Given the description of an element on the screen output the (x, y) to click on. 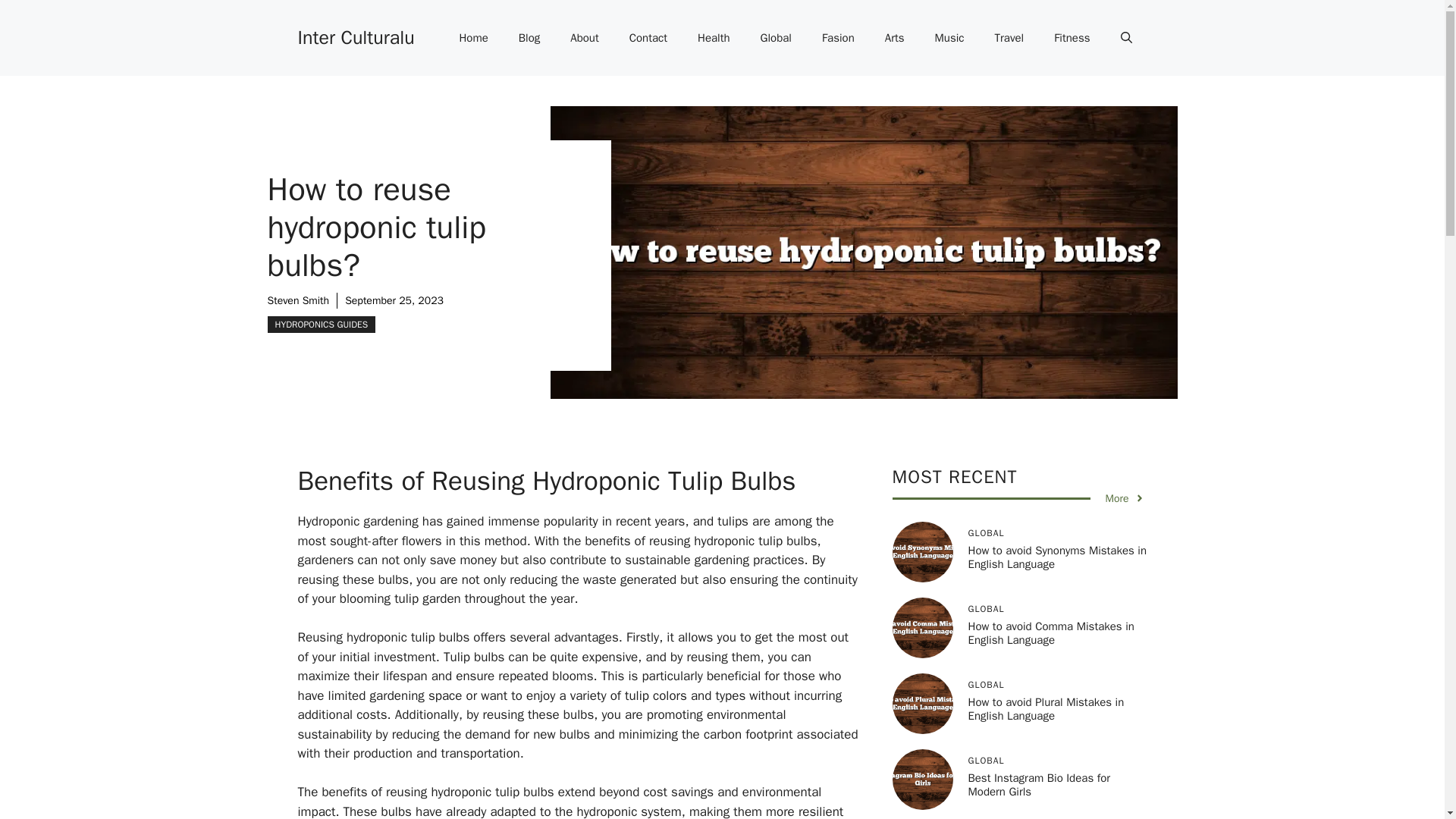
Best Instagram Bio Ideas for Modern Girls (1038, 784)
Inter Culturalu (355, 37)
How to avoid Plural Mistakes in English Language (1046, 708)
Music (949, 37)
More (1124, 498)
Home (473, 37)
Fasion (837, 37)
Fitness (1072, 37)
How to avoid Synonyms Mistakes in English Language (1057, 556)
Global (775, 37)
Blog (528, 37)
How to avoid Comma Mistakes in English Language (1051, 633)
Health (713, 37)
Steven Smith (297, 300)
HYDROPONICS GUIDES (320, 324)
